Given the description of an element on the screen output the (x, y) to click on. 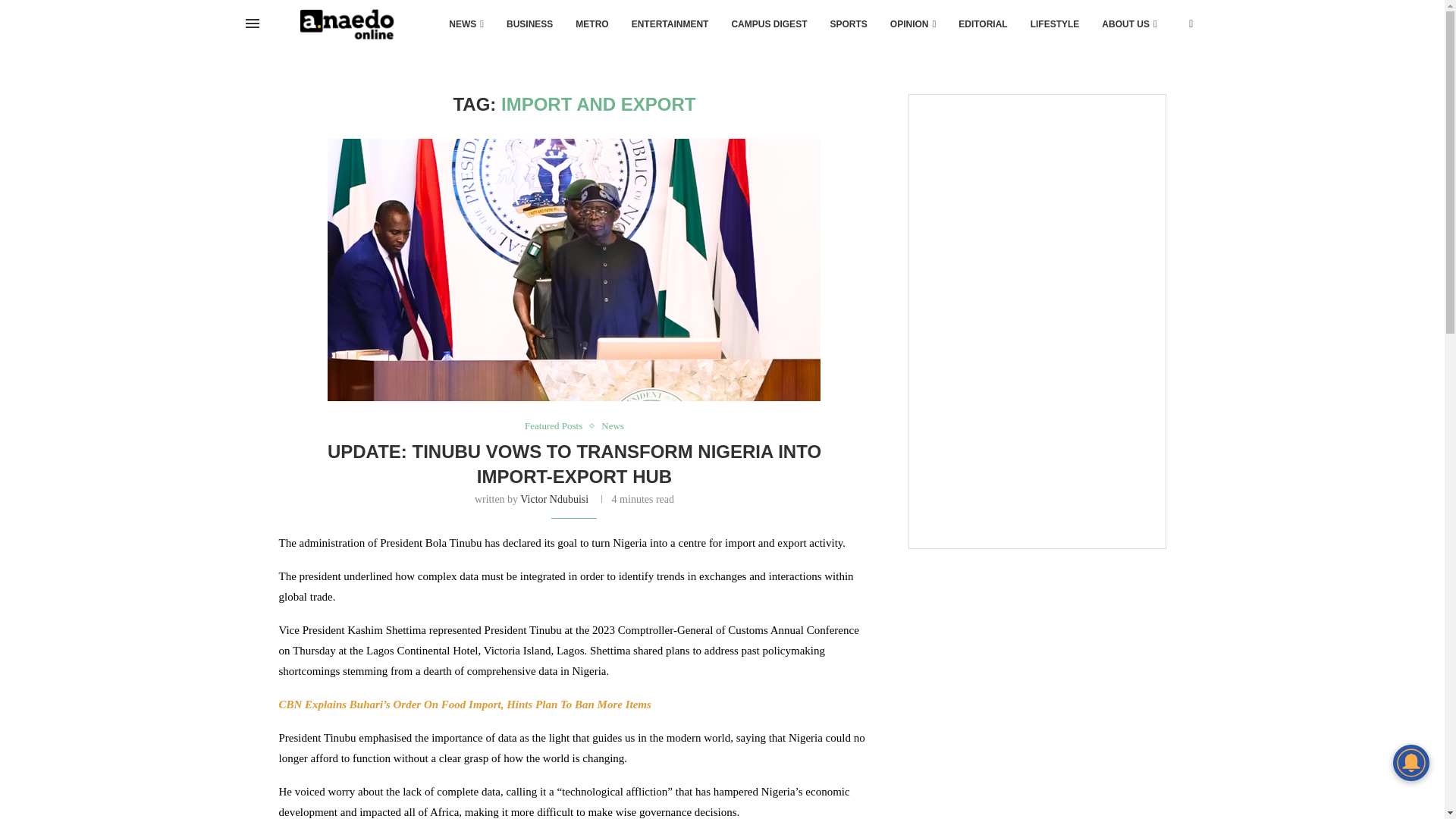
LIFESTYLE (1054, 23)
ABOUT US (1128, 23)
EDITORIAL (982, 23)
SPORTS (847, 23)
METRO (592, 23)
BUSINESS (529, 23)
Tinubu FEC (574, 271)
CAMPUS DIGEST (768, 23)
Advertisement (1036, 438)
NEWS (466, 23)
Advertisement (1036, 203)
OPINION (913, 23)
ENTERTAINMENT (670, 23)
